Given the description of an element on the screen output the (x, y) to click on. 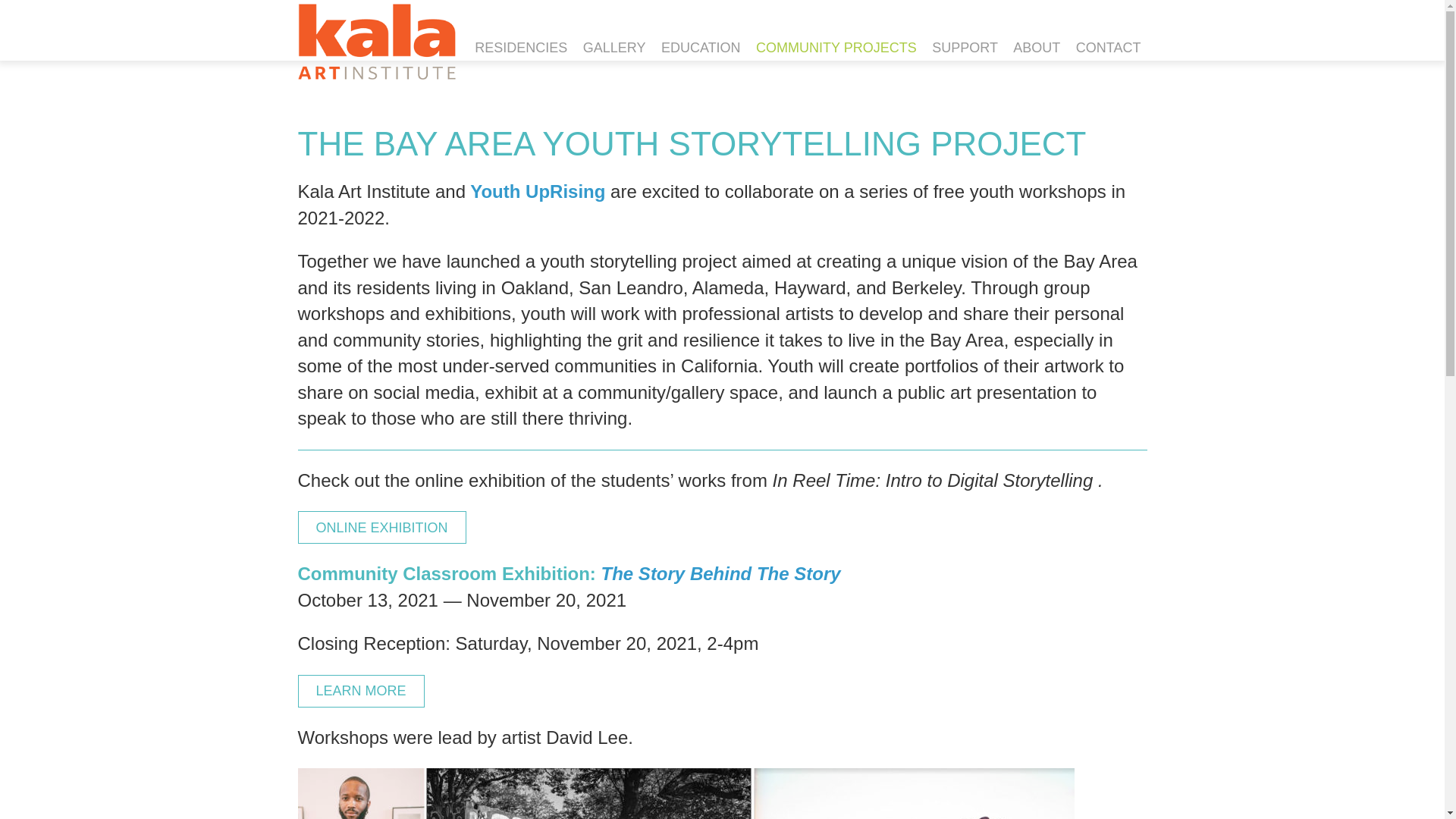
GALLERY (614, 48)
COMMUNITY PROJECTS (836, 48)
Kala Art Institute (375, 41)
RESIDENCIES (520, 48)
SUPPORT (965, 48)
EDUCATION (700, 48)
